Given the description of an element on the screen output the (x, y) to click on. 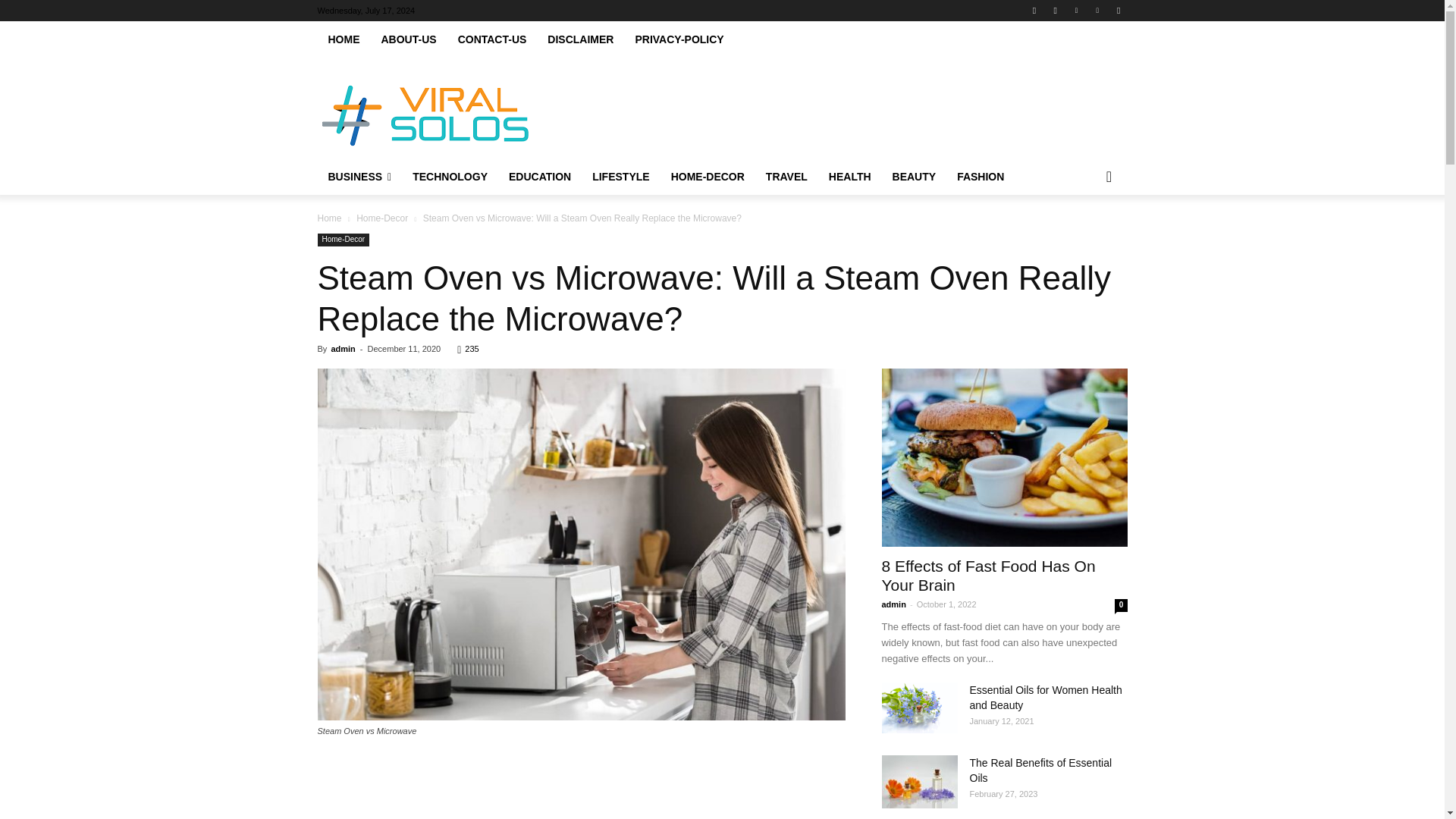
Advertisement (580, 788)
View all posts in Home-Decor (381, 217)
Advertisement (846, 112)
